Given the description of an element on the screen output the (x, y) to click on. 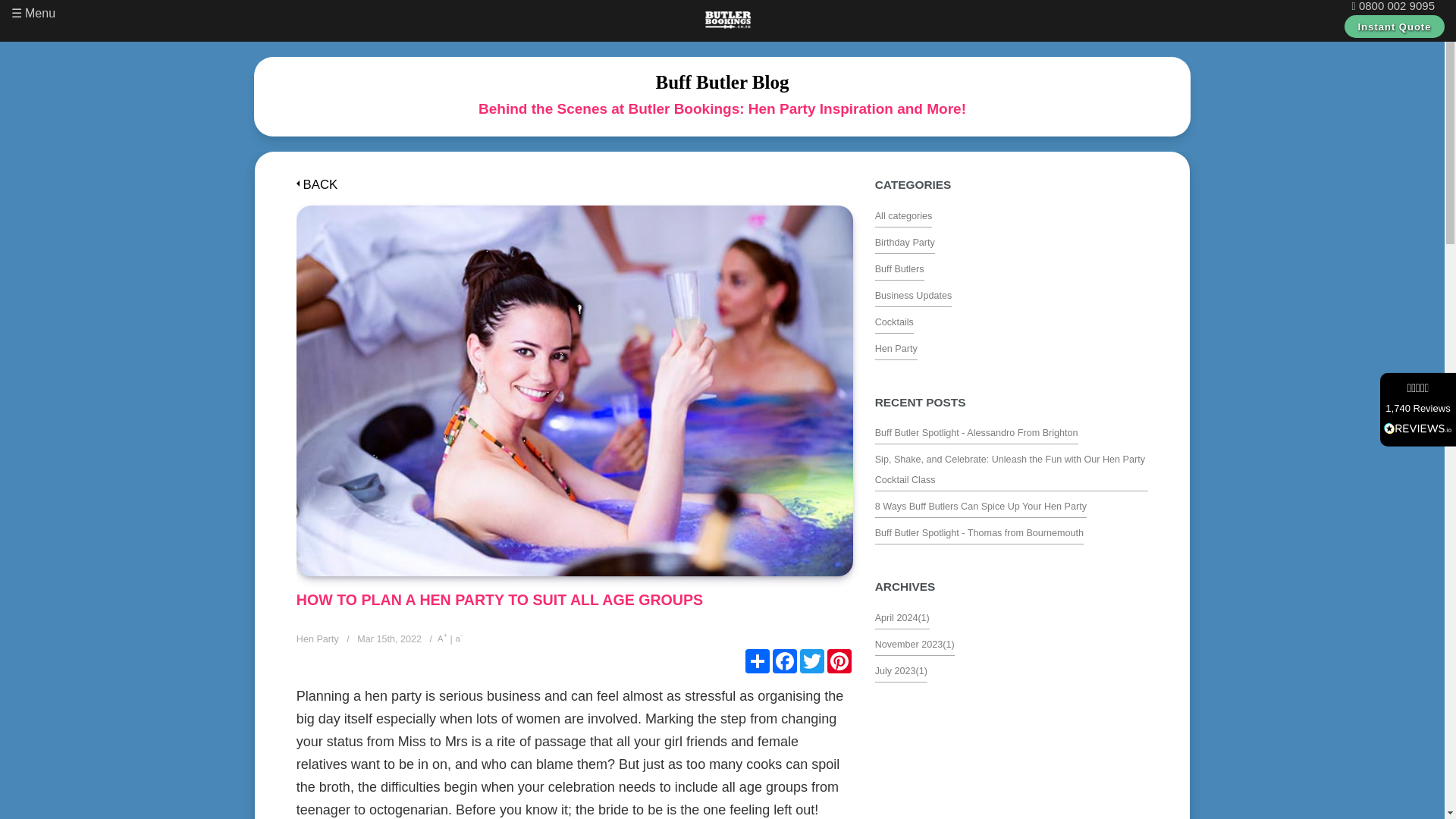
Pinterest (839, 661)
Buff Butlers (899, 266)
4.9 Stars (1417, 387)
Buff Butler Spotlight - Alessandro From Brighton (976, 430)
Birthday Party (904, 240)
8 Ways Buff Butlers Can Spice Up Your Hen Party (980, 504)
All categories (904, 213)
Facebook (784, 661)
Cocktails (894, 320)
Buff Butler Spotlight - Thomas from Bournemouth (979, 530)
Business Updates (913, 293)
BACK (317, 184)
Twitter (811, 661)
Hen Party (896, 346)
